Given the description of an element on the screen output the (x, y) to click on. 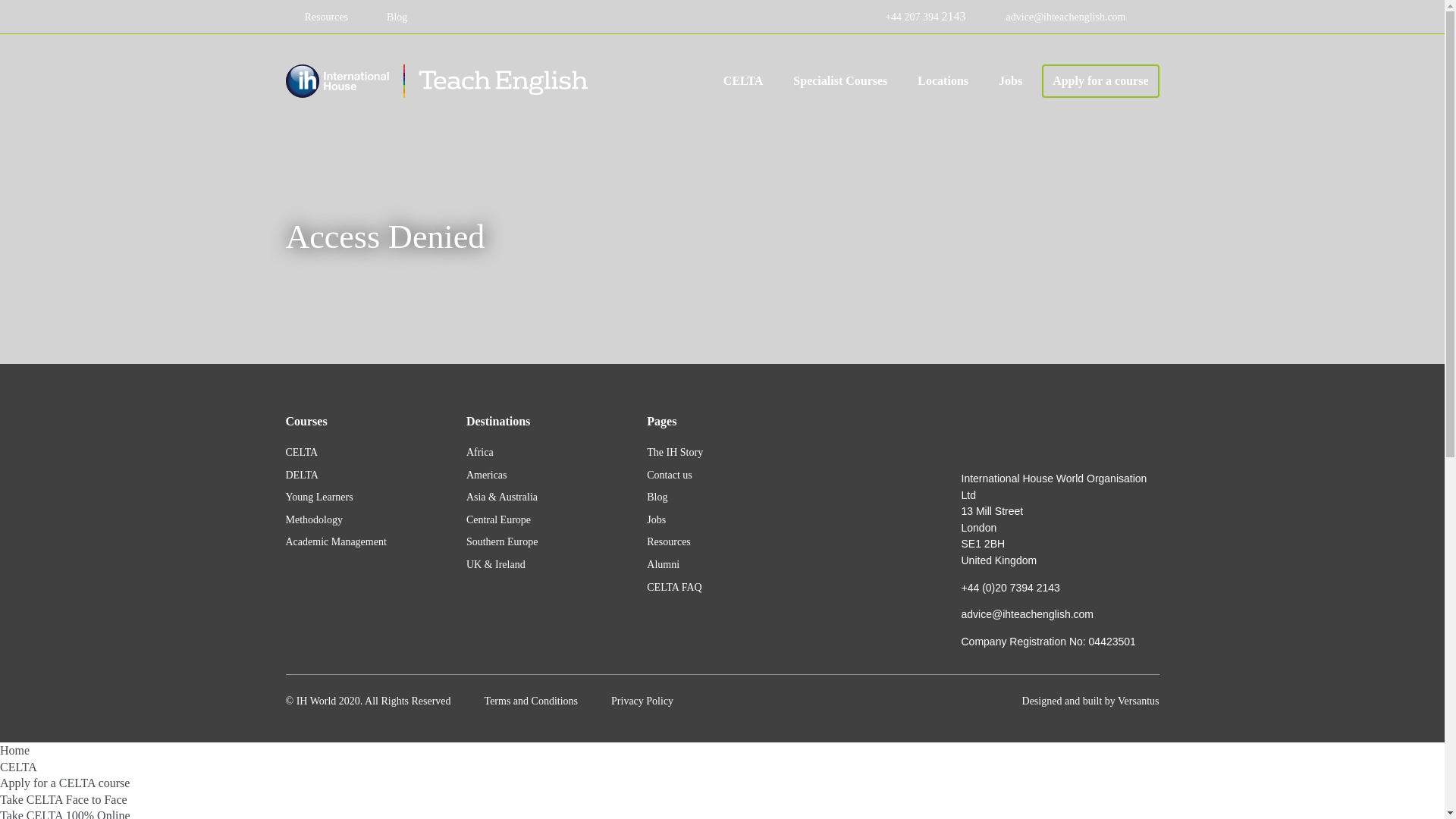
Resources (316, 16)
Destinations (942, 80)
Home (436, 80)
Blog (388, 16)
Jobs (1010, 80)
